Given the description of an element on the screen output the (x, y) to click on. 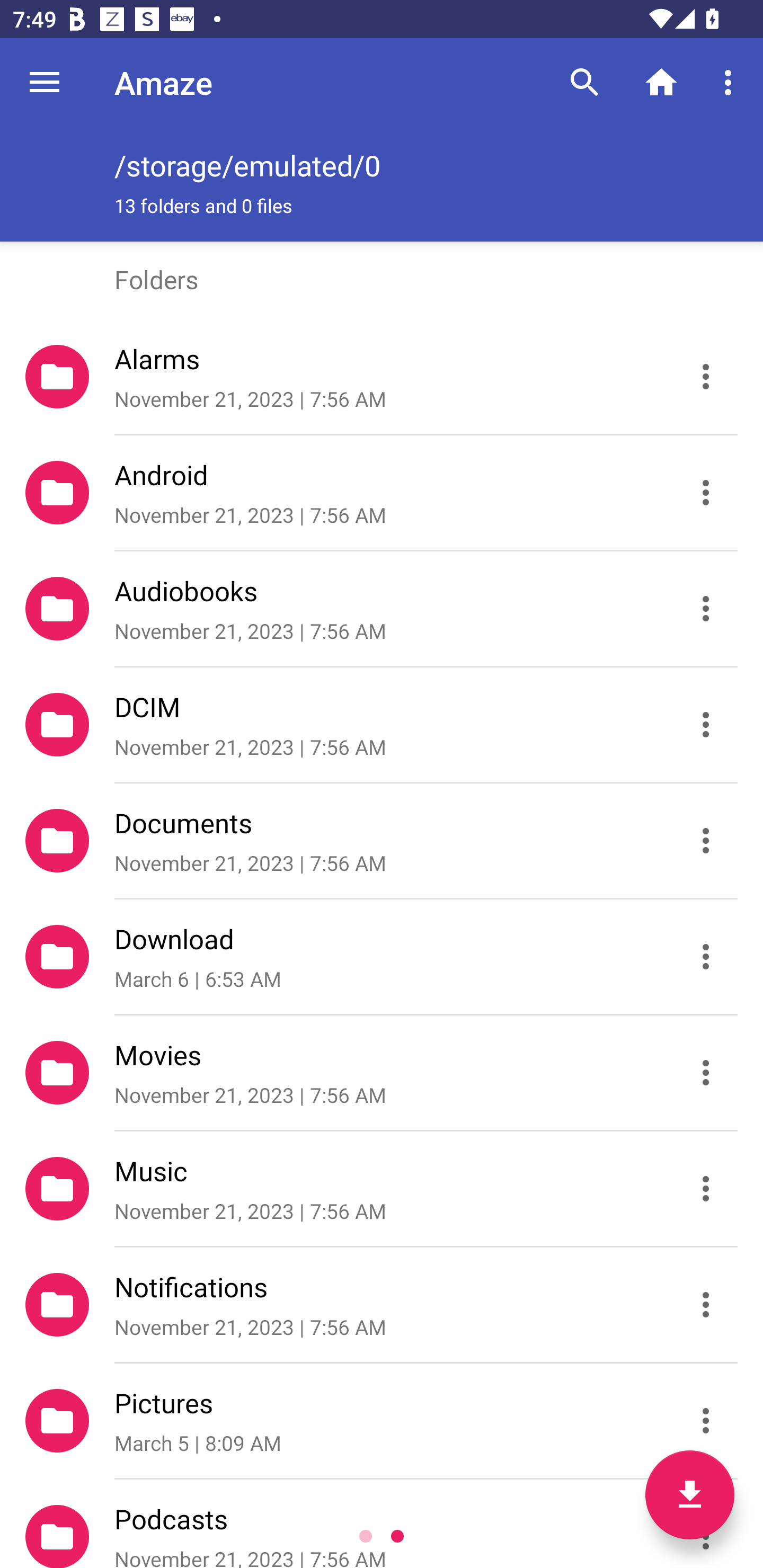
Navigate up (44, 82)
Search (585, 81)
Home (661, 81)
More options (731, 81)
Alarms November 21, 2023 | 7:56 AM (381, 376)
Android November 21, 2023 | 7:56 AM (381, 492)
Audiobooks November 21, 2023 | 7:56 AM (381, 608)
DCIM November 21, 2023 | 7:56 AM (381, 724)
Documents November 21, 2023 | 7:56 AM (381, 841)
Download March 6 | 6:53 AM (381, 957)
Movies November 21, 2023 | 7:56 AM (381, 1073)
Music November 21, 2023 | 7:56 AM (381, 1189)
Notifications November 21, 2023 | 7:56 AM (381, 1305)
Pictures March 5 | 8:09 AM (381, 1421)
Podcasts November 21, 2023 | 7:56 AM (381, 1524)
